Given the description of an element on the screen output the (x, y) to click on. 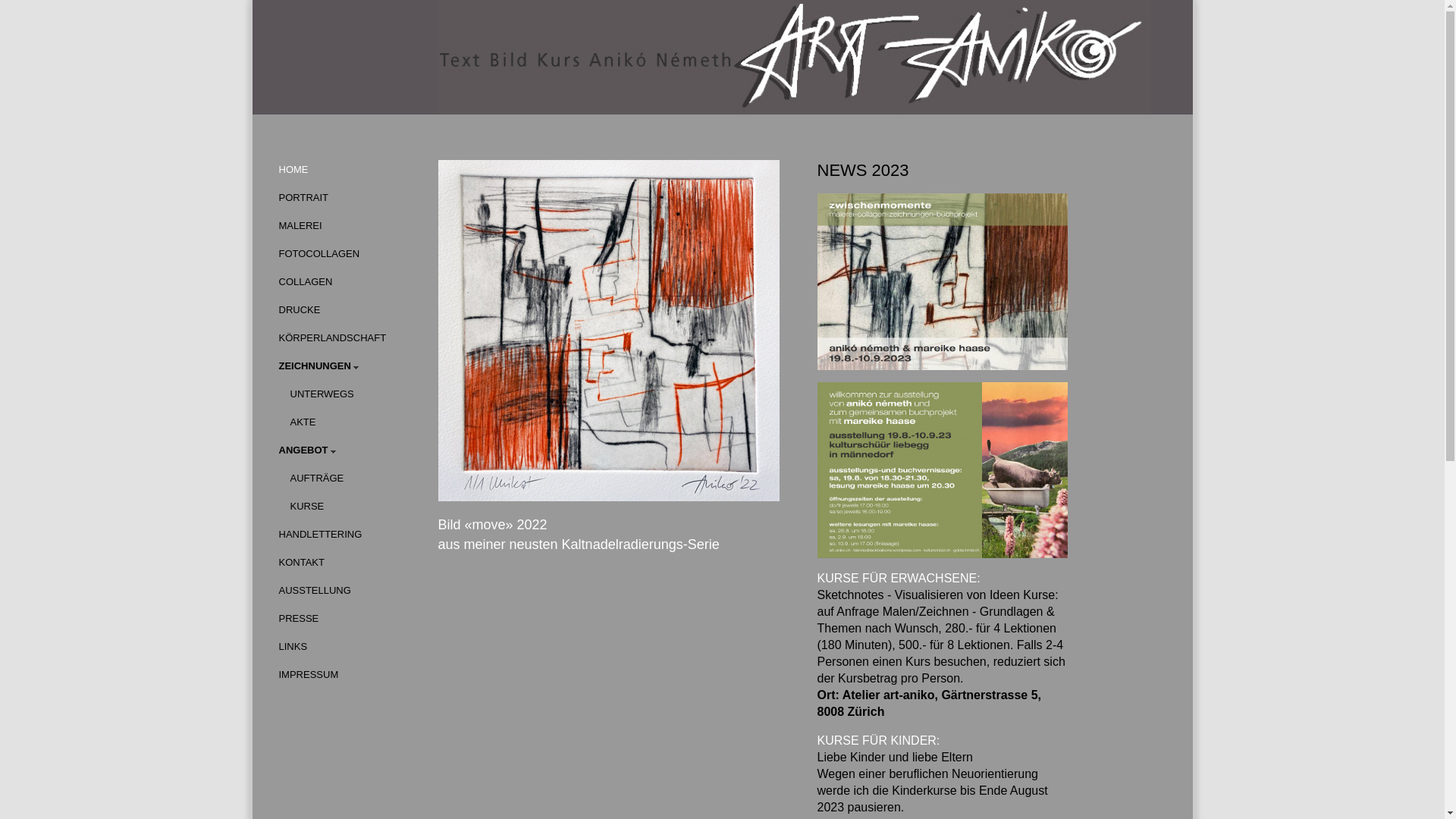
IMPRESSUM Element type: text (350, 675)
AKTE Element type: text (350, 422)
UNTERWEGS Element type: text (350, 394)
KURSE Element type: text (350, 506)
LINKS Element type: text (350, 647)
FOTOCOLLAGEN Element type: text (350, 254)
PRESSE Element type: text (350, 619)
AUSSTELLUNG Element type: text (350, 591)
KONTAKT Element type: text (350, 563)
MALEREI Element type: text (350, 226)
PORTRAIT Element type: text (350, 198)
COLLAGEN Element type: text (350, 282)
HOME Element type: text (350, 170)
DRUCKE Element type: text (350, 310)
HANDLETTERING Element type: text (350, 534)
